Given the description of an element on the screen output the (x, y) to click on. 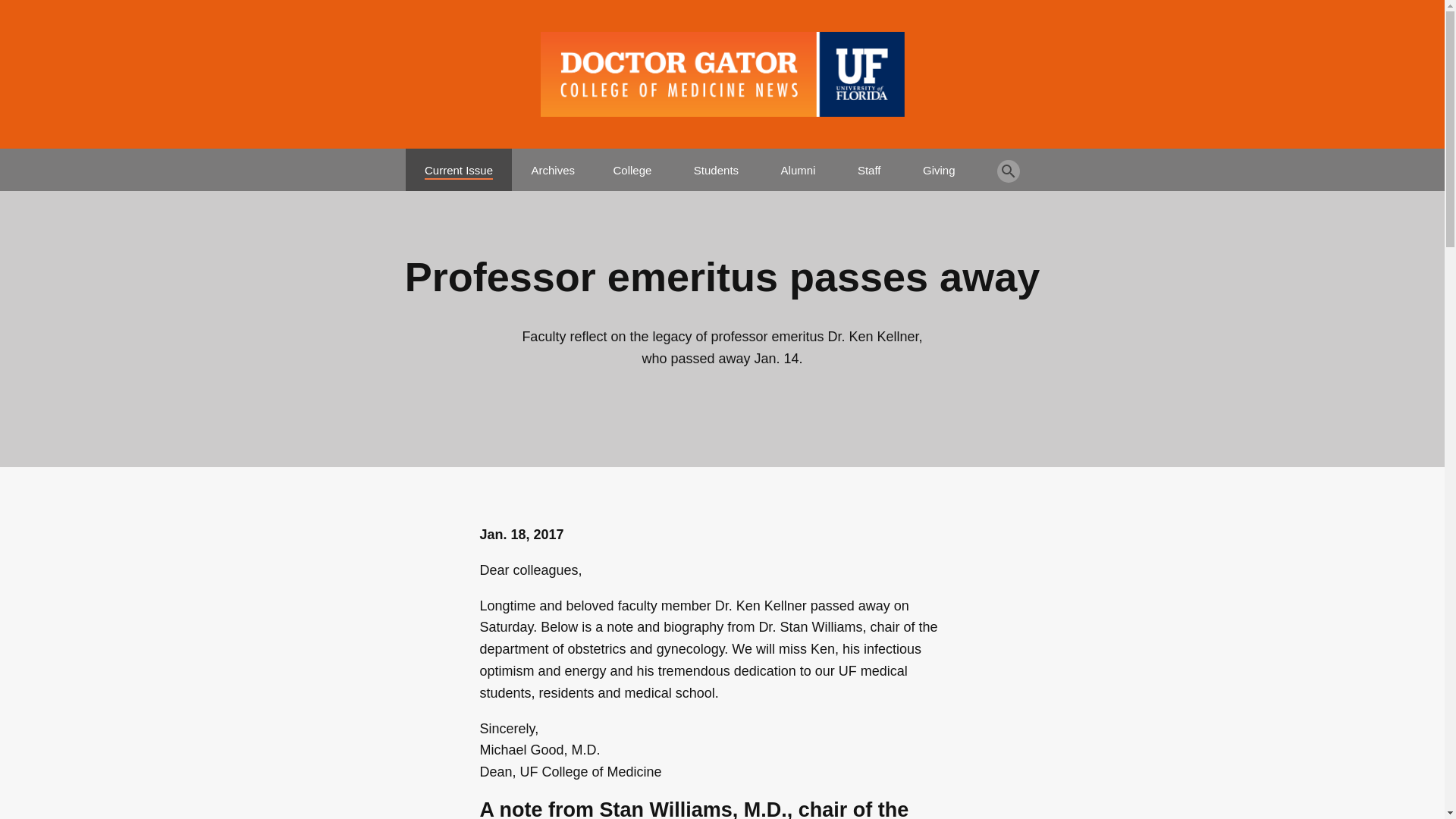
Doctor Gator - Home (722, 74)
Alumni (797, 163)
Current Issue (459, 163)
College (631, 163)
Students (716, 163)
Archives (553, 163)
Giving (939, 163)
